Given the description of an element on the screen output the (x, y) to click on. 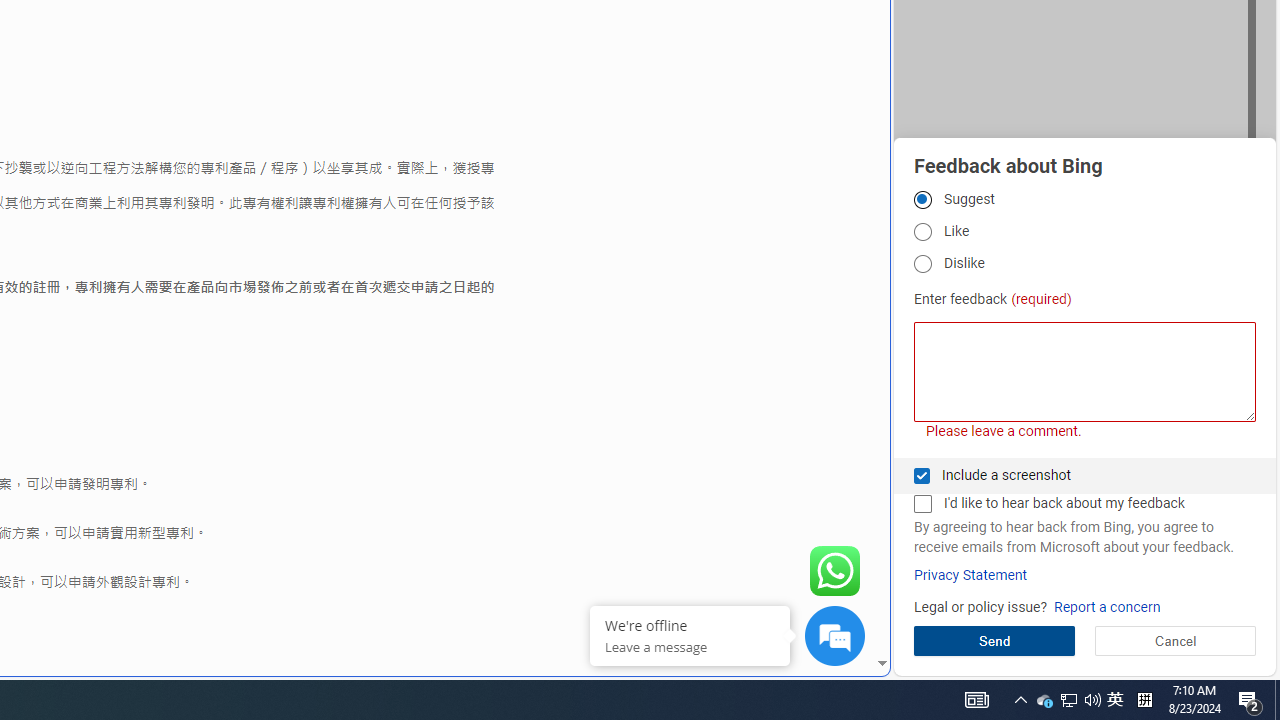
google_privacy_policy_zh-CN.pdf (687, 482)
Report a concern (1106, 607)
I'd like to hear back about my feedback (922, 503)
Privacy Statement (970, 575)
Like (922, 232)
Suggest (922, 199)
Include a screenshot (921, 475)
Cancel (1174, 640)
Send (994, 640)
